Given the description of an element on the screen output the (x, y) to click on. 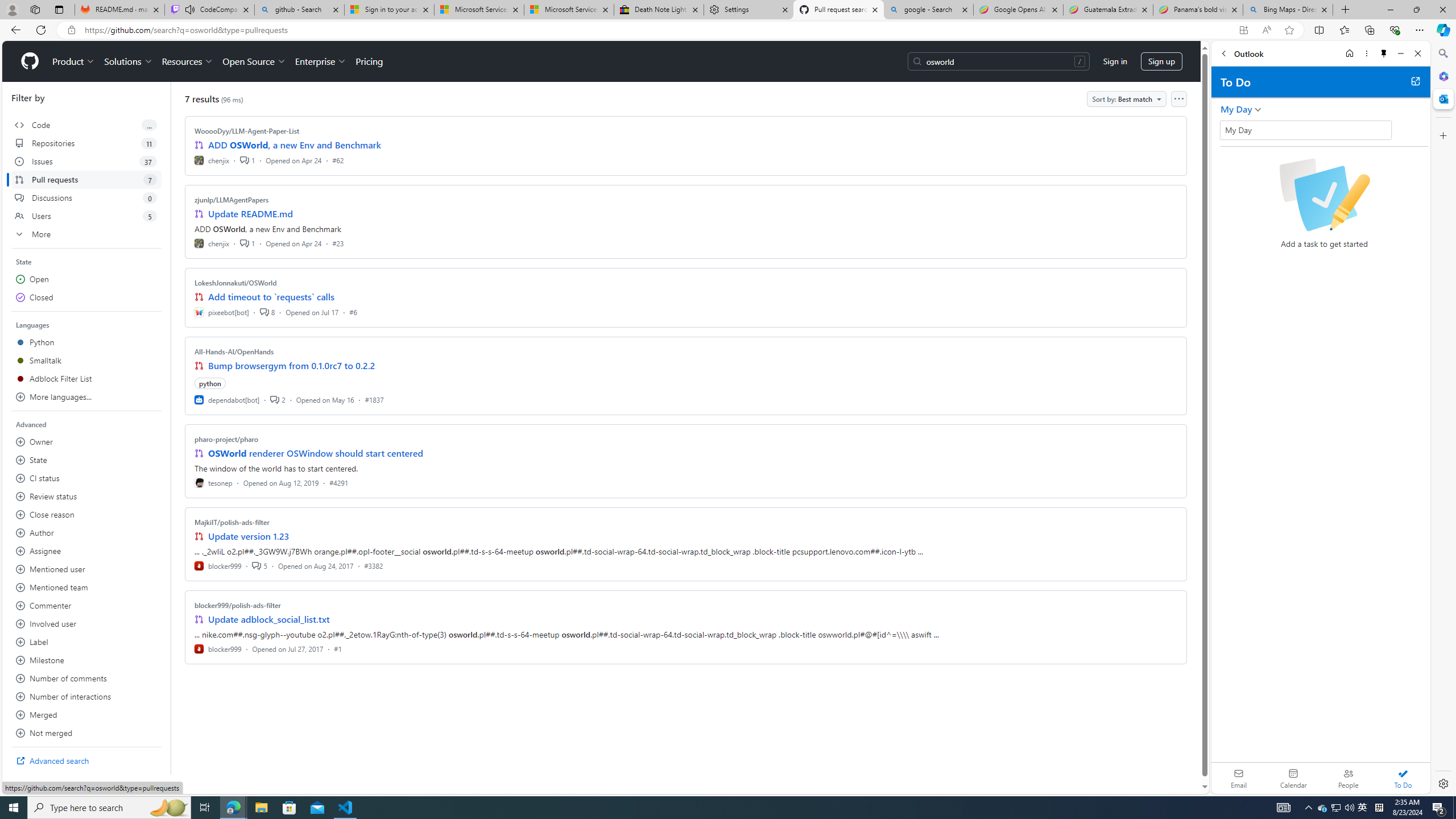
#6 (352, 311)
